Given the description of an element on the screen output the (x, y) to click on. 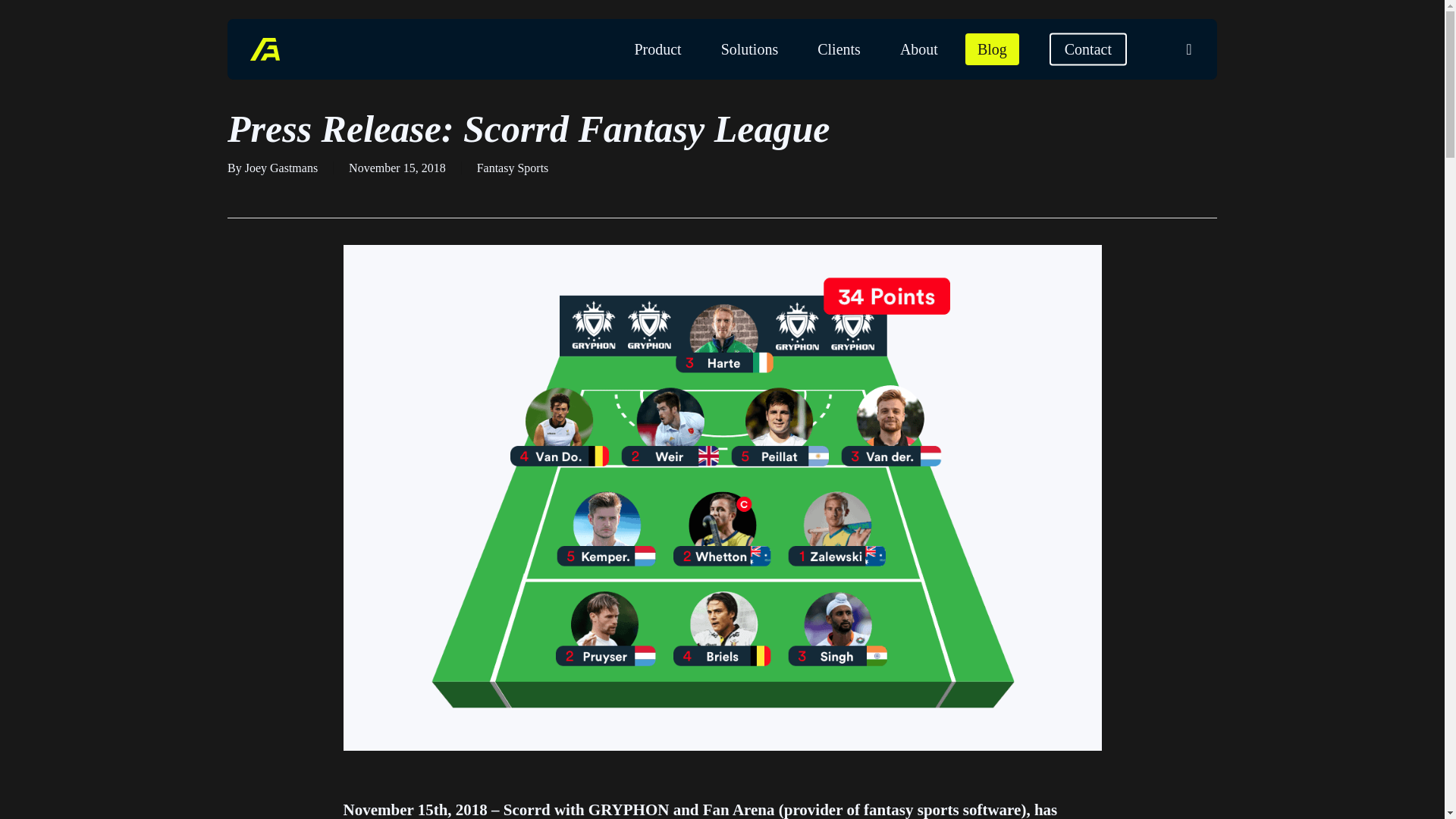
Posts by Joey Gastmans (280, 167)
Solutions (749, 49)
Clients (838, 49)
Product (657, 49)
About (919, 49)
Blog (992, 49)
search (1188, 48)
Fantasy Sports (512, 167)
Joey Gastmans (280, 167)
Contact (1087, 49)
